Given the description of an element on the screen output the (x, y) to click on. 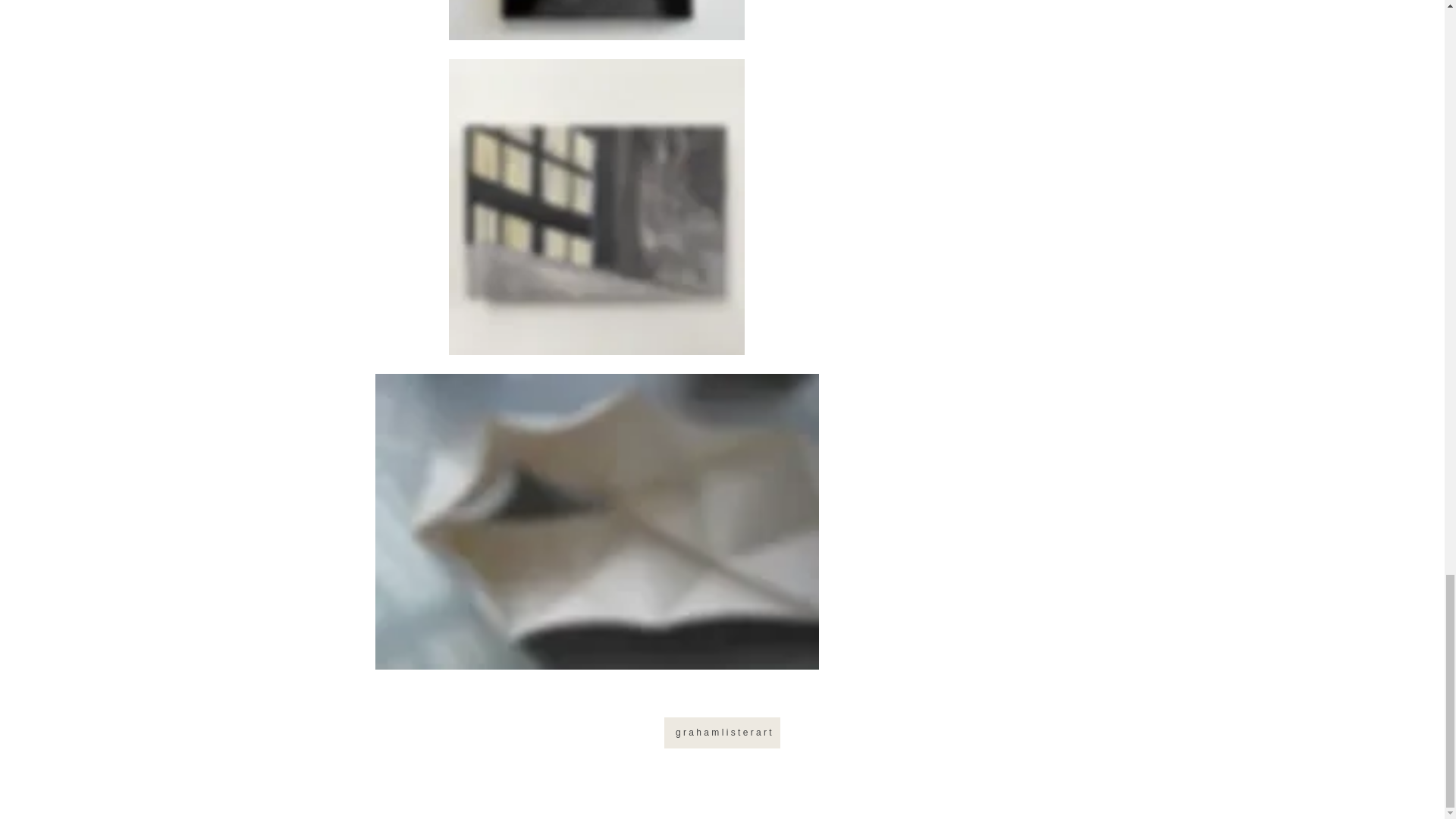
g r a h a m l i s t e r a r t (721, 732)
